Given the description of an element on the screen output the (x, y) to click on. 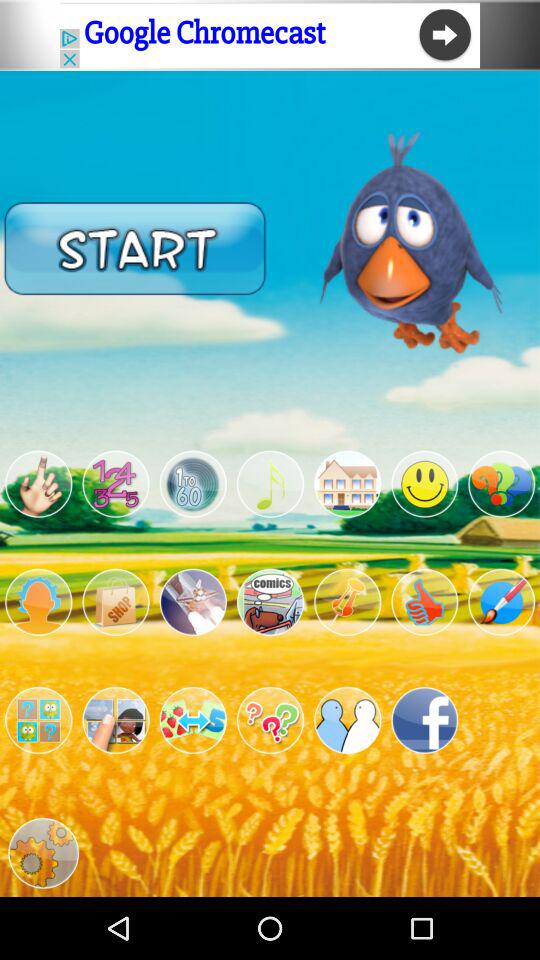
shop (115, 602)
